Given the description of an element on the screen output the (x, y) to click on. 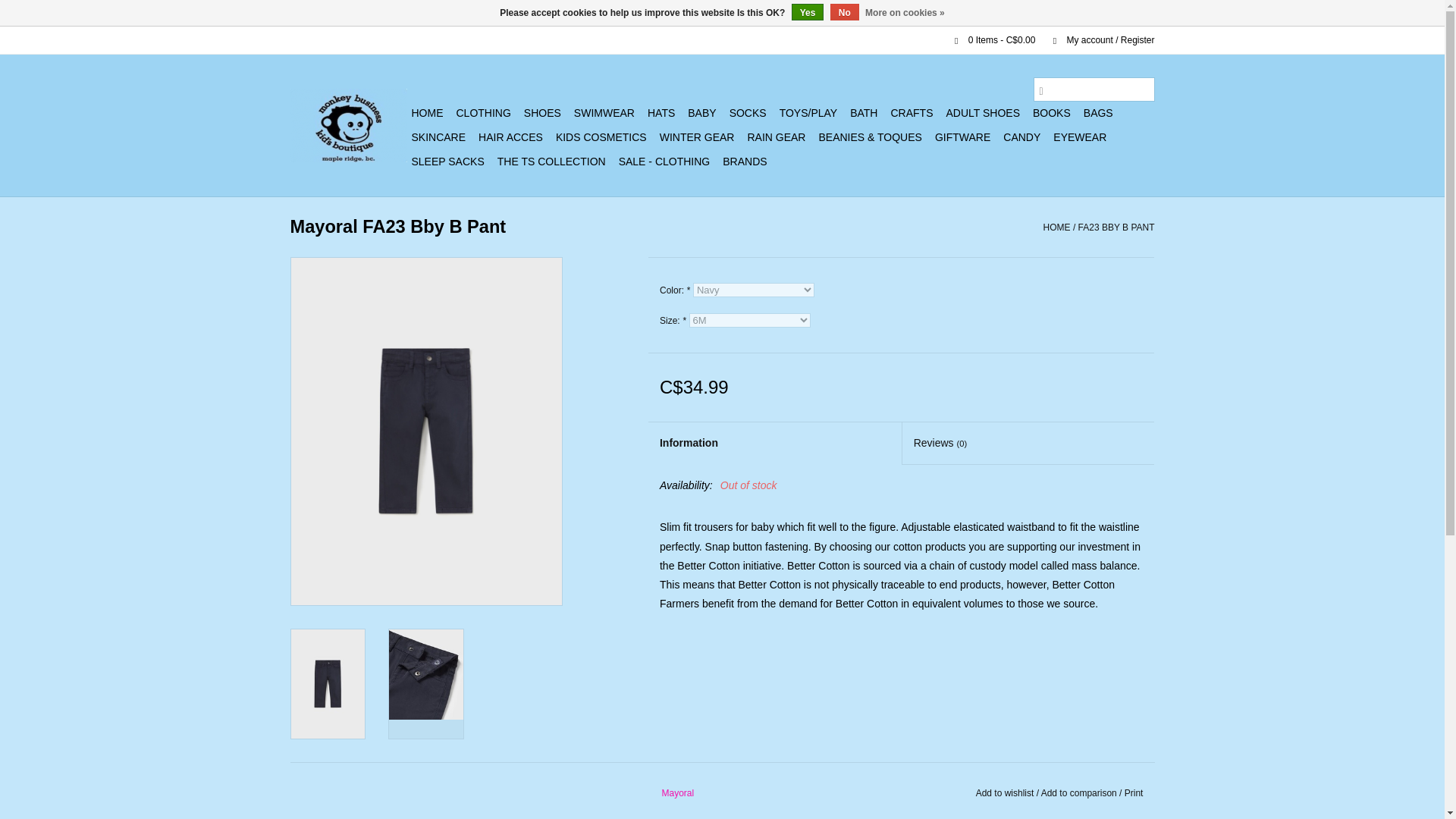
HATS (661, 112)
SWIMWEAR (604, 112)
Cart (988, 40)
Clothing (483, 112)
SHOES (542, 112)
CLOTHING (483, 112)
HOME (426, 112)
My account (1096, 40)
